Given the description of an element on the screen output the (x, y) to click on. 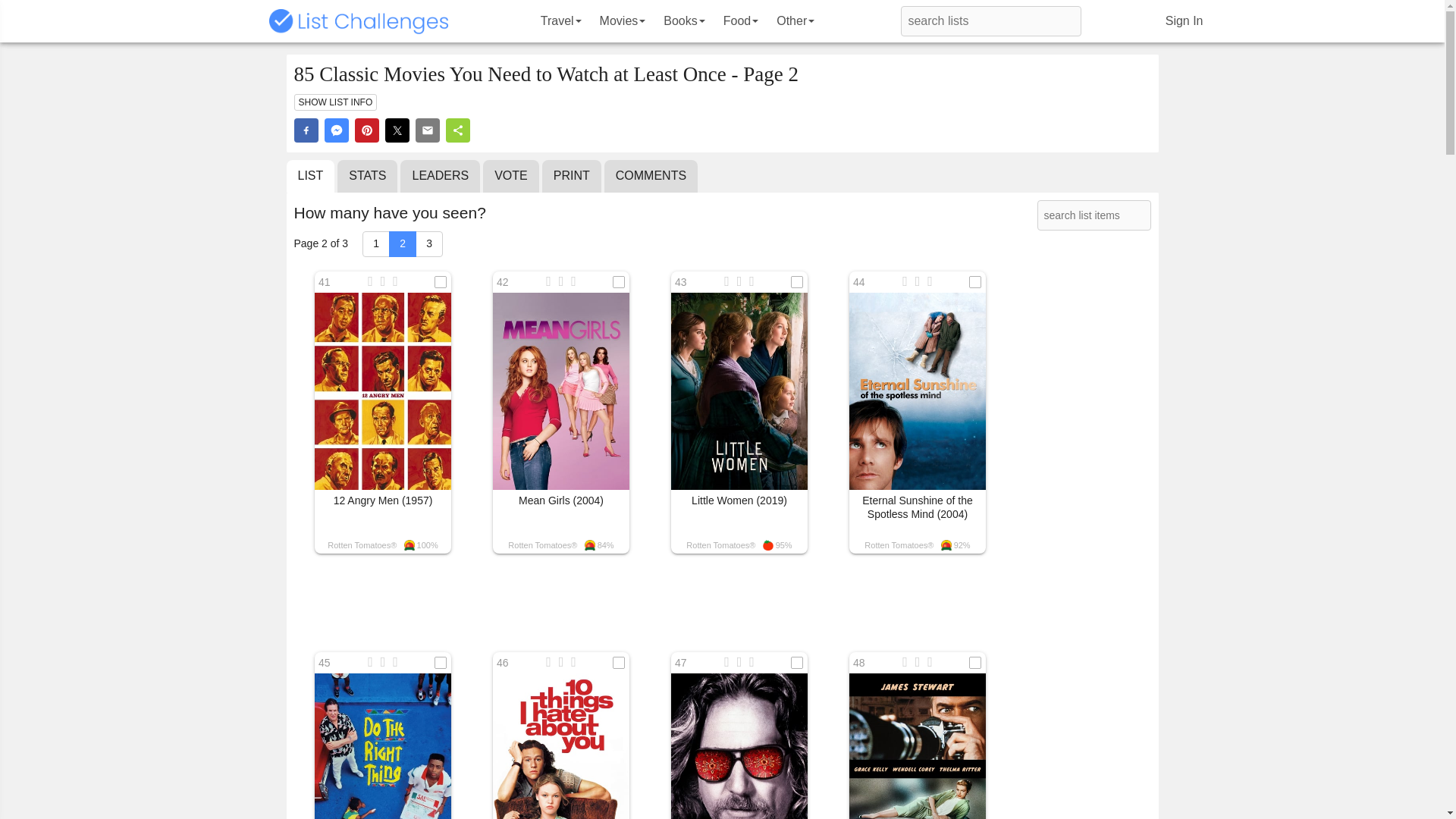
3 (428, 243)
1 (376, 243)
2 (402, 243)
LEADERS (440, 175)
Sign In (1183, 21)
PRINT (571, 175)
STATS (367, 175)
Travel (561, 21)
Food (740, 21)
LIST (310, 175)
COMMENTS (650, 175)
Other (795, 21)
SHOW LIST INFO (335, 102)
Books (683, 21)
VOTE (510, 175)
